Given the description of an element on the screen output the (x, y) to click on. 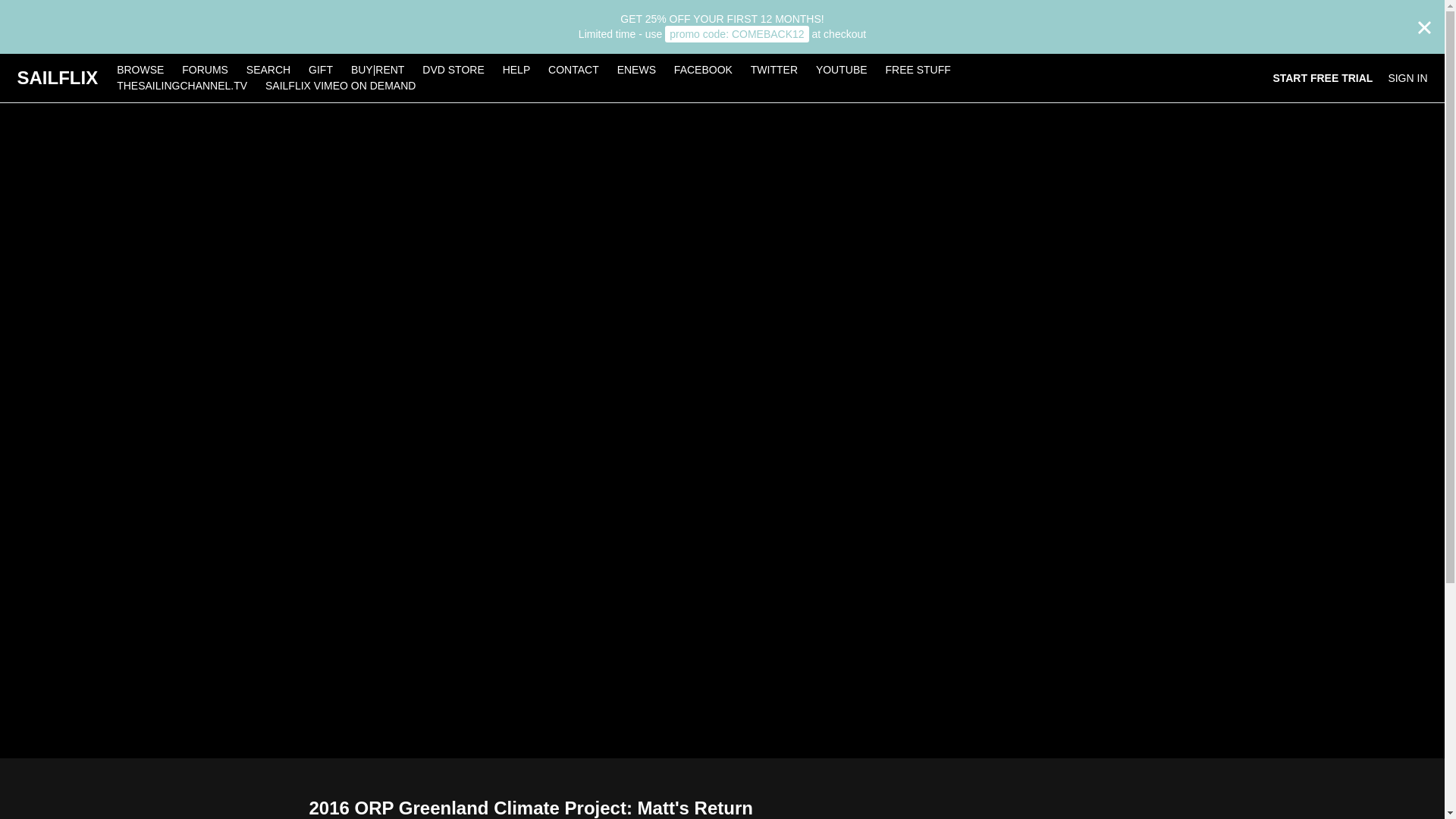
HELP (516, 69)
THESAILINGCHANNEL.TV (181, 85)
FREE STUFF (917, 69)
YOUTUBE (841, 69)
SAILFLIX (56, 77)
SIGN IN (1406, 78)
BROWSE (141, 69)
START FREE TRIAL (1322, 78)
FACEBOOK (702, 69)
FORUMS (206, 69)
GIFT (320, 69)
SEARCH (269, 69)
Skip to main content (48, 7)
TWITTER (773, 69)
CONTACT (573, 69)
